Given the description of an element on the screen output the (x, y) to click on. 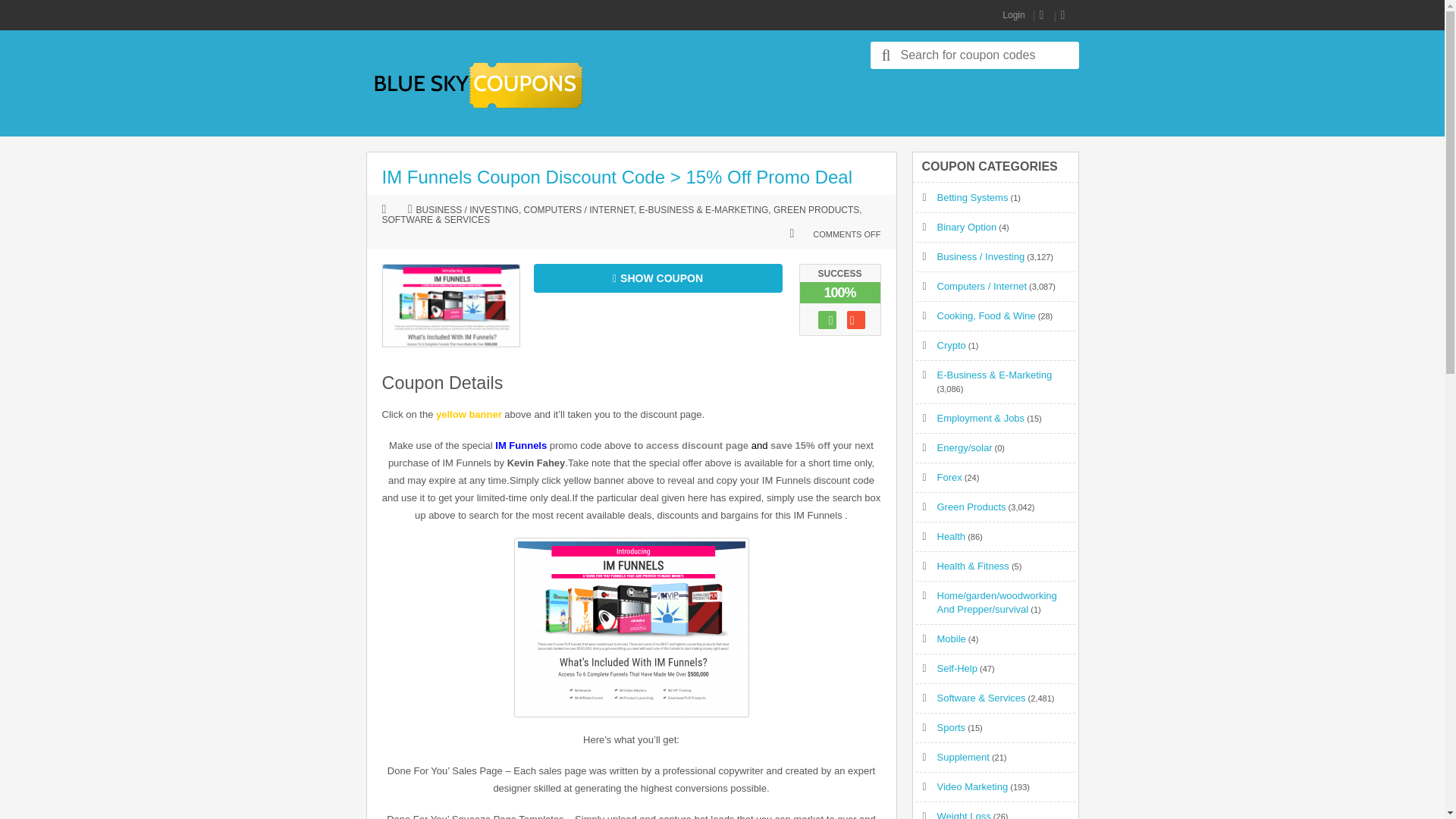
Crypto (951, 345)
Binary Option (967, 226)
GREEN PRODUCTS (816, 210)
Self-Help (956, 668)
Login (1014, 14)
Green Products (971, 506)
Mobile (951, 638)
SHOW COUPON (658, 277)
Forex (949, 477)
Betting Systems (973, 197)
